Given the description of an element on the screen output the (x, y) to click on. 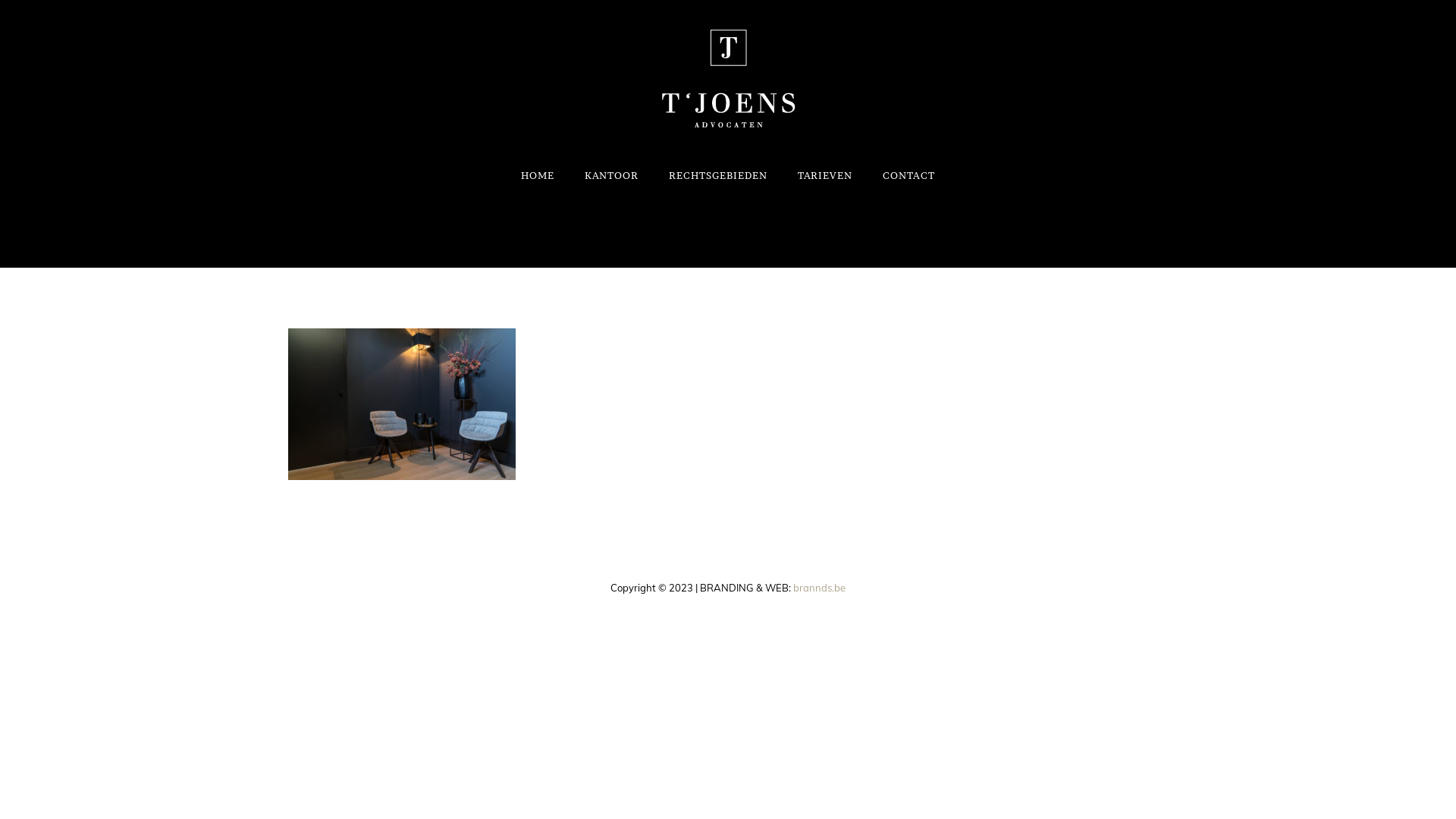
RECHTSGEBIEDEN Element type: text (717, 175)
Home Element type: text (1075, 230)
_DSC1213 Element type: text (1145, 230)
TARIEVEN Element type: text (824, 175)
CONTACT Element type: text (908, 175)
KANTOOR Element type: text (611, 175)
HOME Element type: text (1105, 230)
brannds.be Element type: text (819, 587)
HOME Element type: text (537, 175)
